Given the description of an element on the screen output the (x, y) to click on. 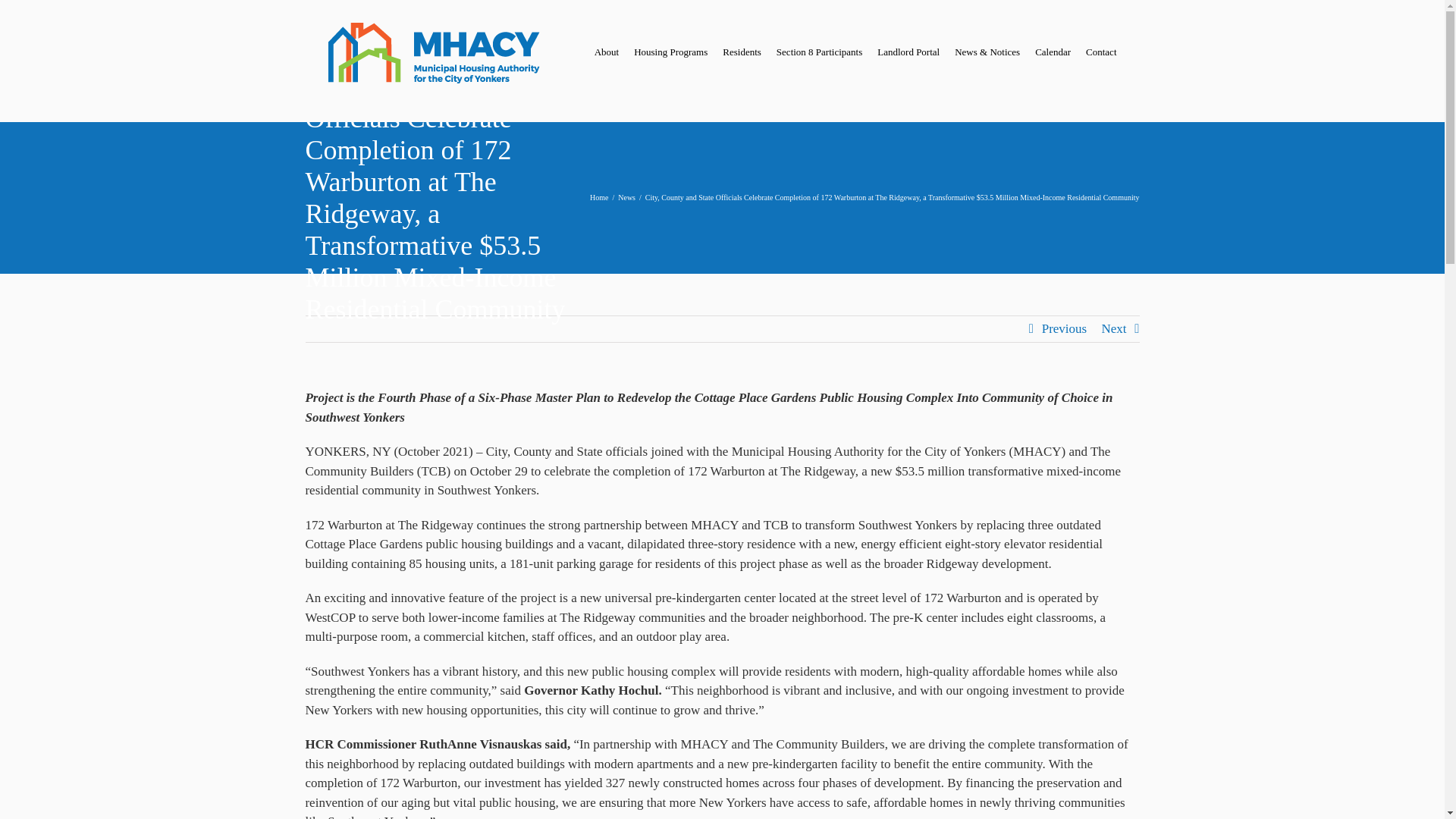
Home (598, 197)
News (625, 197)
Next (1112, 329)
Previous (1064, 329)
